Given the description of an element on the screen output the (x, y) to click on. 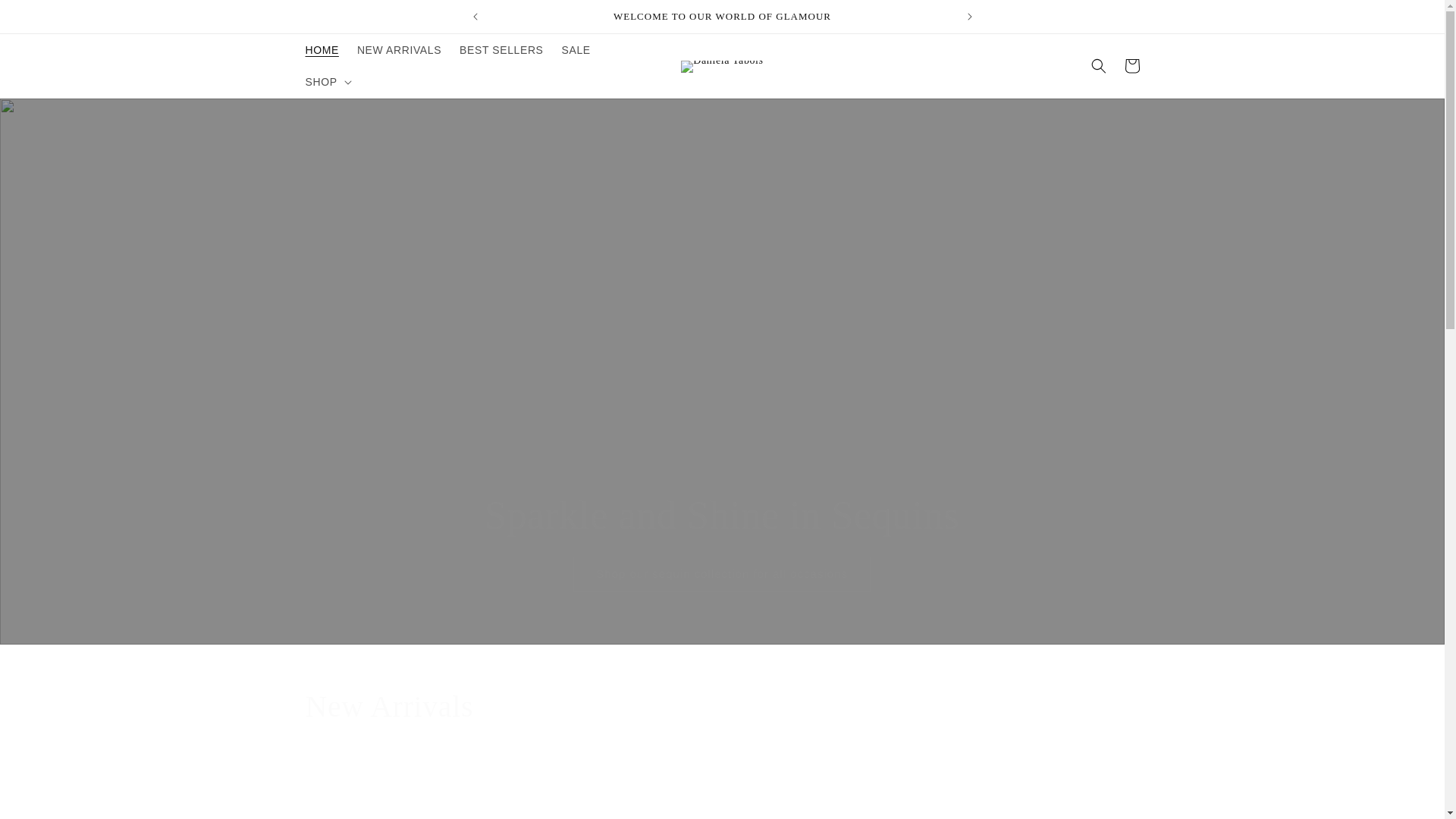
BEST SELLERS (500, 50)
NEW ARRIVALS (398, 50)
HOME (321, 50)
Cart (1131, 65)
New Arrivals (721, 706)
Shop our sequin collection for all occasions (721, 573)
SALE (576, 50)
Skip to content (45, 17)
